Given the description of an element on the screen output the (x, y) to click on. 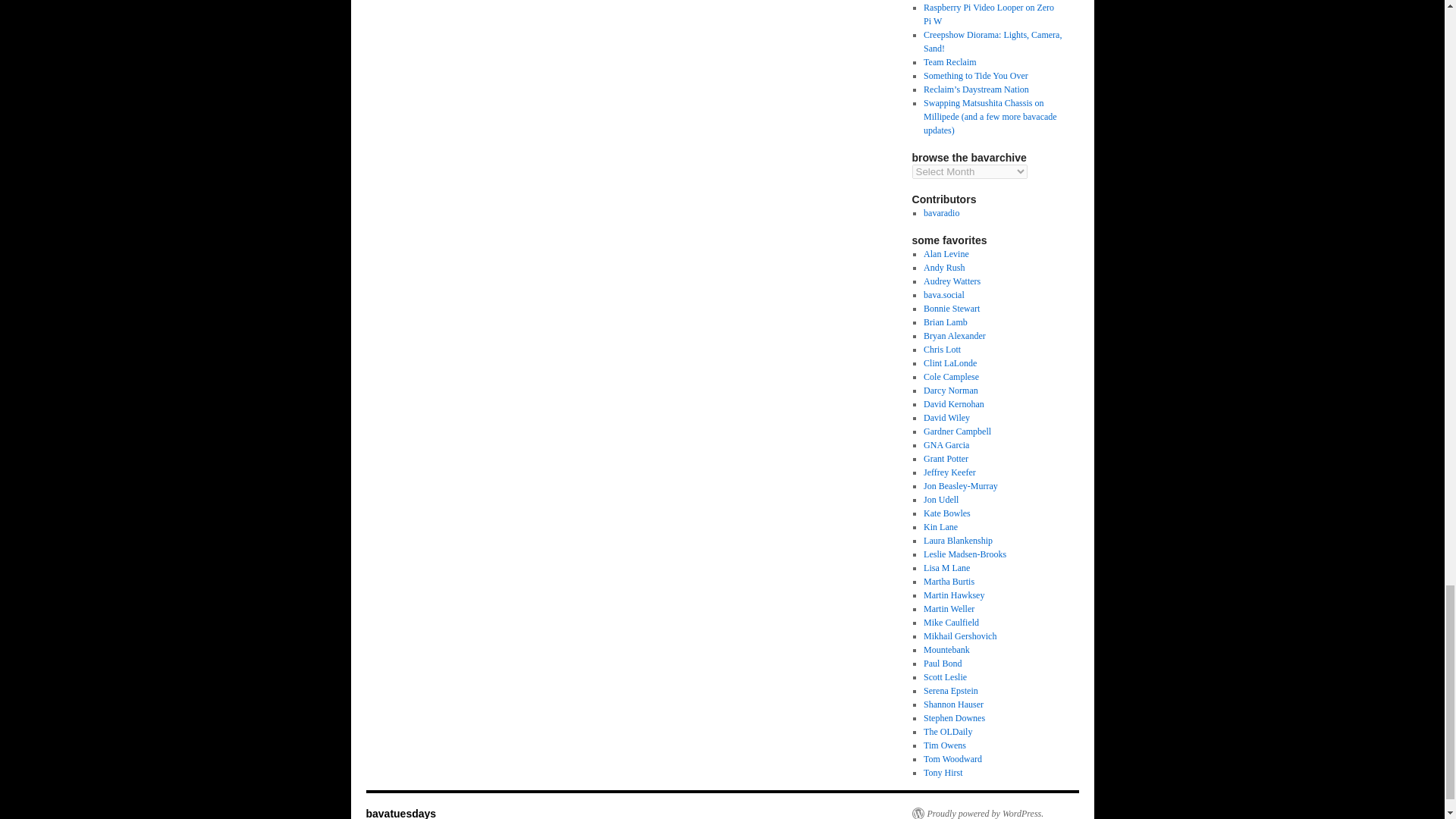
Lauren Blankenship lays it down (957, 540)
bava on the radio (941, 213)
